Given the description of an element on the screen output the (x, y) to click on. 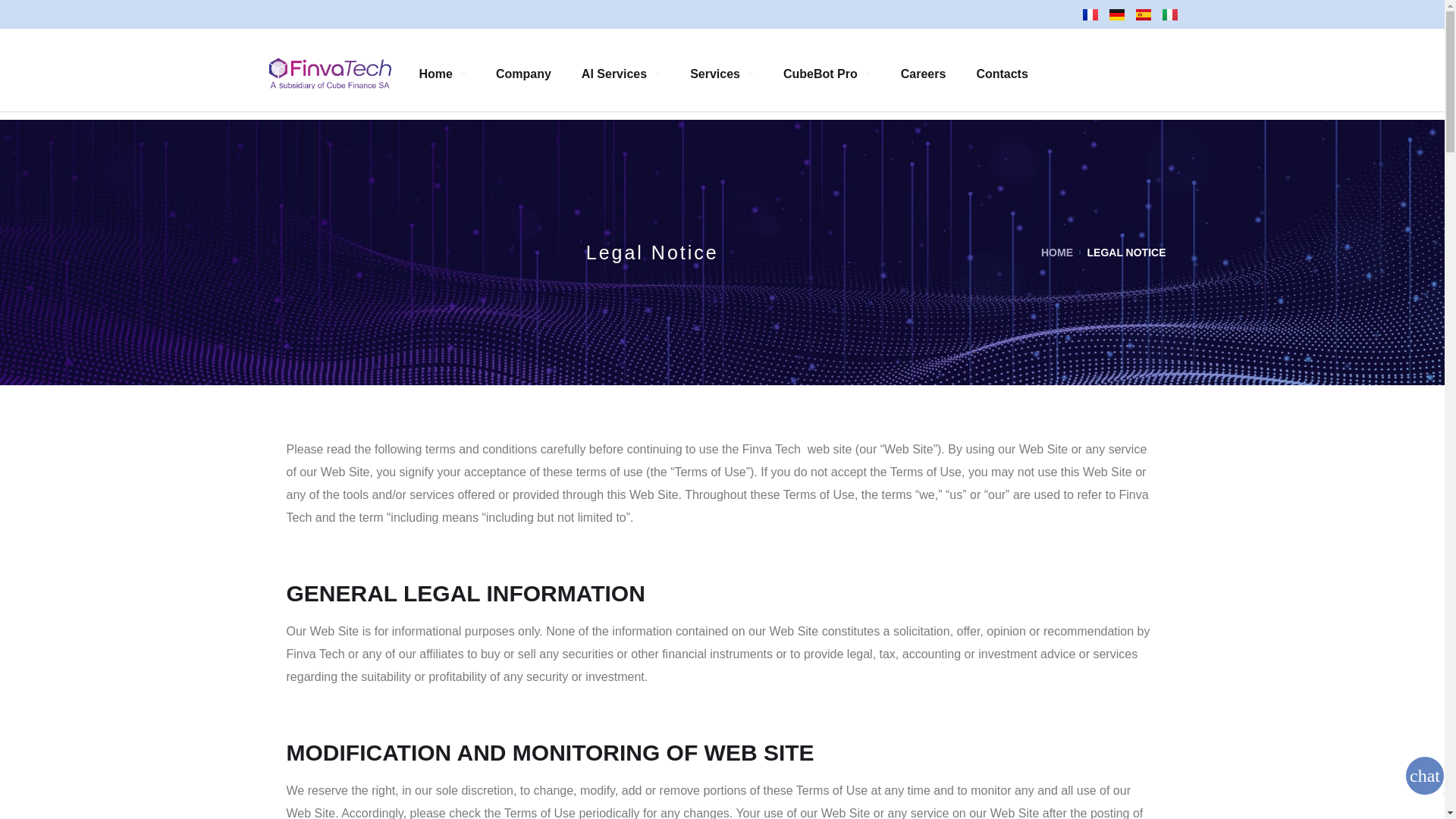
CubeBot Pro (826, 73)
AI Services (619, 73)
